Given the description of an element on the screen output the (x, y) to click on. 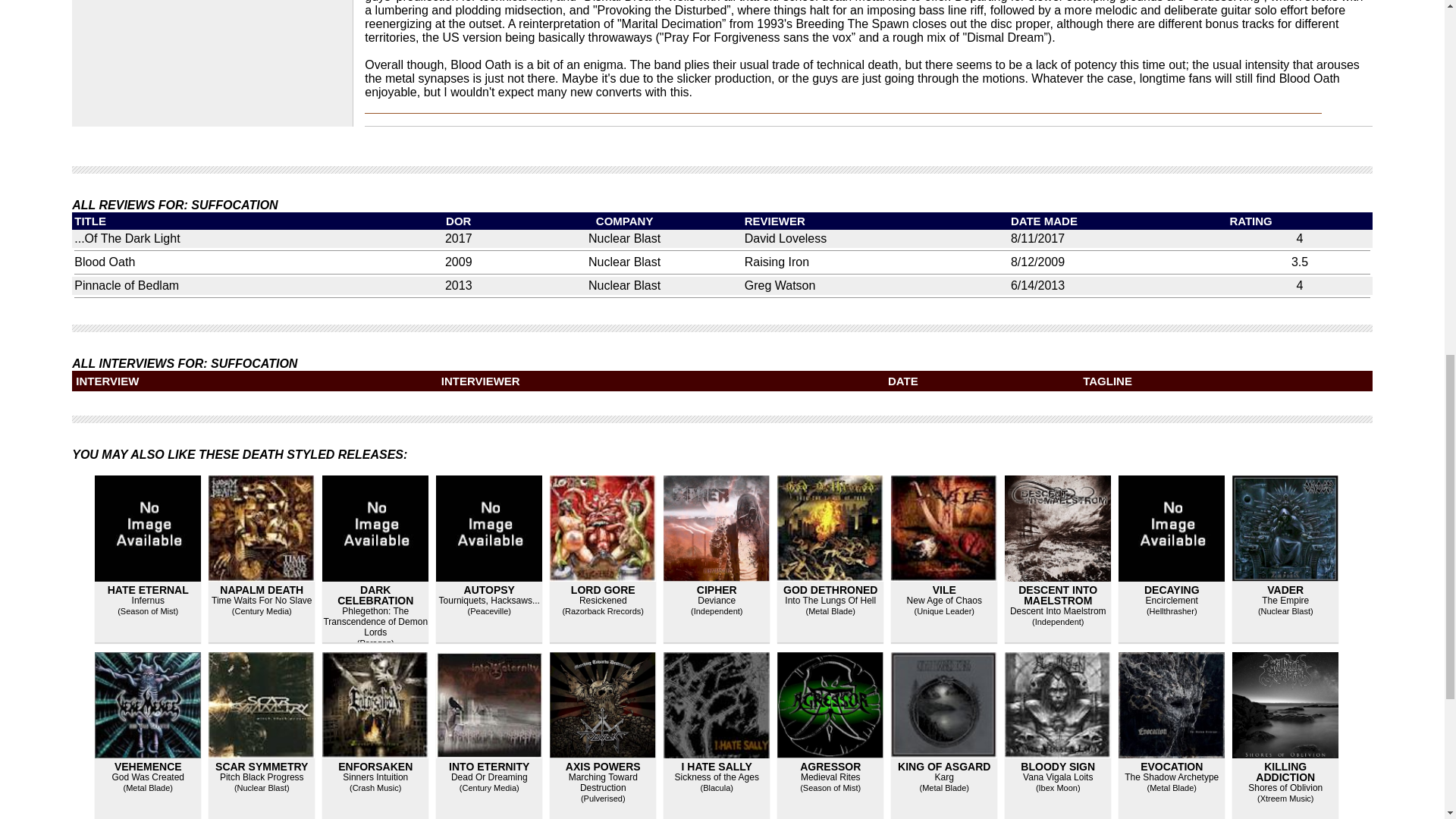
CIPHER (716, 589)
Time Waits For No Slave (261, 600)
Resickened (603, 600)
Phlegethon: The Transcendence of Demon Lords (375, 622)
New Age of Chaos (944, 600)
...Of The Dark Light (126, 237)
AUTOPSY (489, 589)
Infernus (148, 600)
Pinnacle of Bedlam (126, 285)
Blood Oath (104, 261)
